Given the description of an element on the screen output the (x, y) to click on. 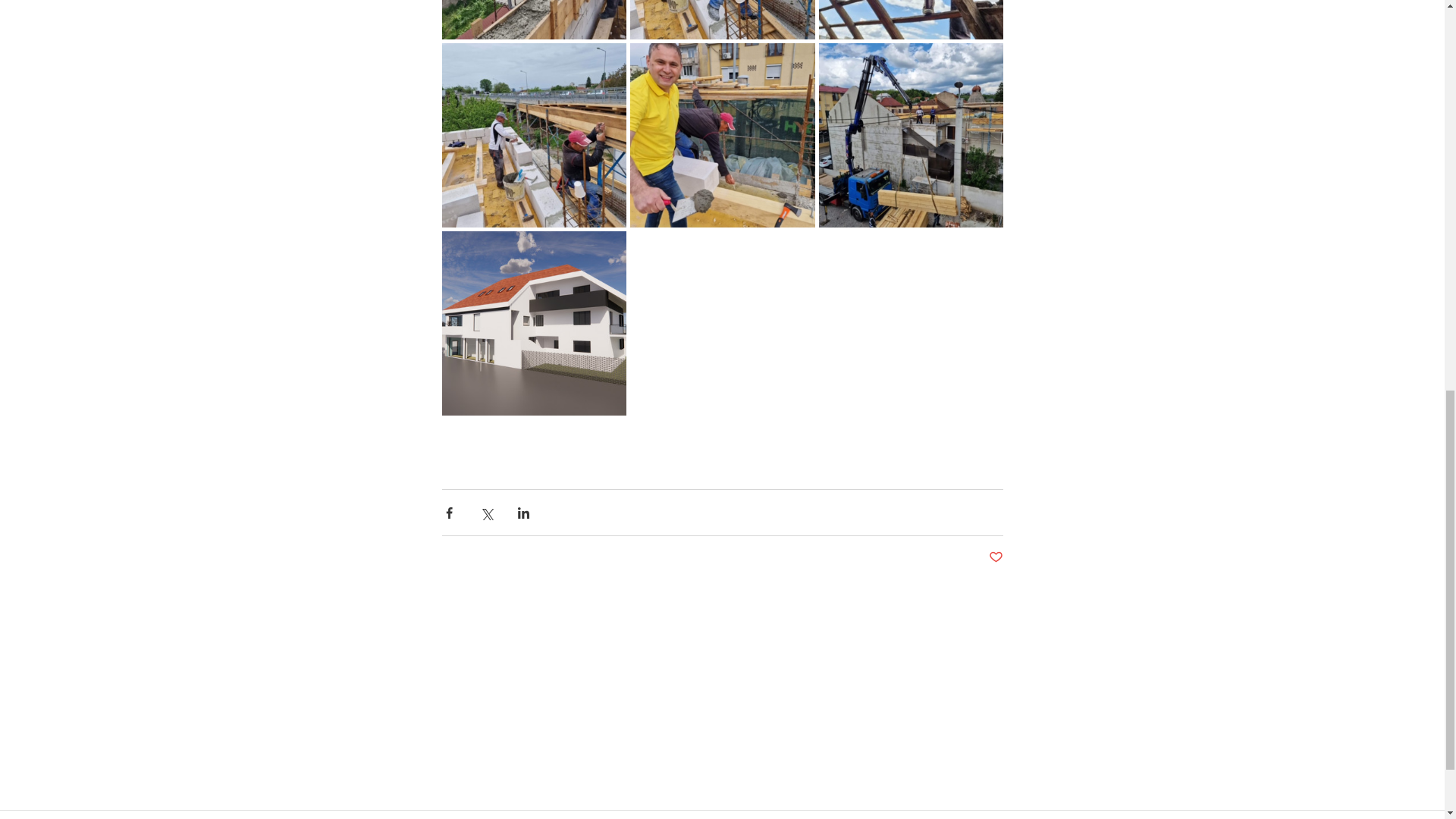
Post not marked as liked (995, 557)
Construction Underway for Romania Community Center (721, 314)
The Romanian Greenhouse community sends their gratitude (479, 449)
Greenhouse Community in Oradea (964, 437)
